Given the description of an element on the screen output the (x, y) to click on. 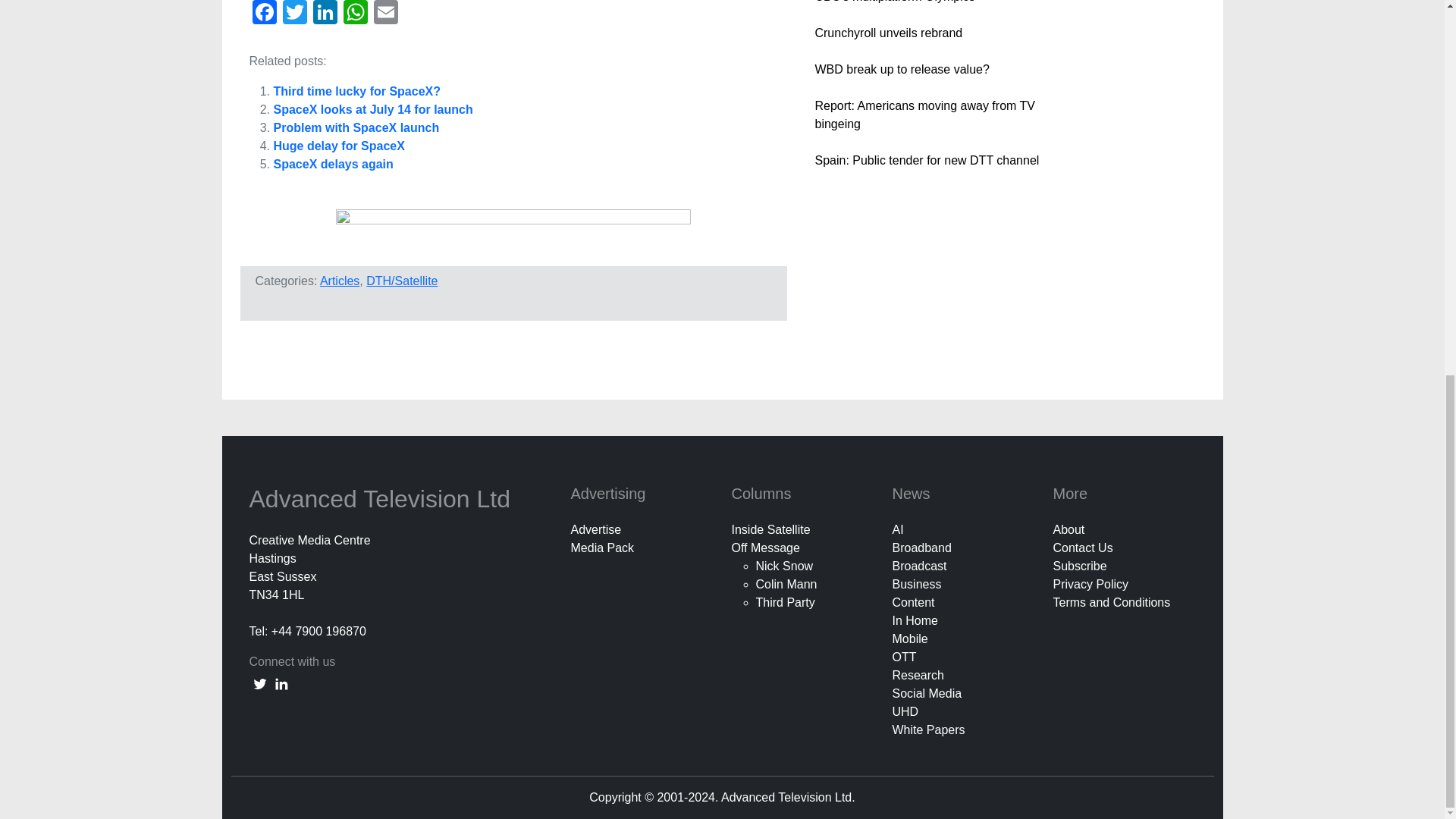
LinkedIn (323, 13)
SpaceX looks at July 14 for launch (372, 109)
Facebook (263, 13)
Email (384, 13)
Third time lucky for SpaceX? (357, 91)
Crunchyroll unveils rebrand (887, 32)
Twitter (293, 13)
WBD break up to release value? (900, 69)
Report: Americans moving away from TV bingeing (923, 114)
SpaceX looks at July 14 for launch (372, 109)
Email (384, 13)
WhatsApp (354, 13)
SpaceX delays again (333, 164)
Problem with SpaceX launch (356, 127)
Problem with SpaceX launch (356, 127)
